Given the description of an element on the screen output the (x, y) to click on. 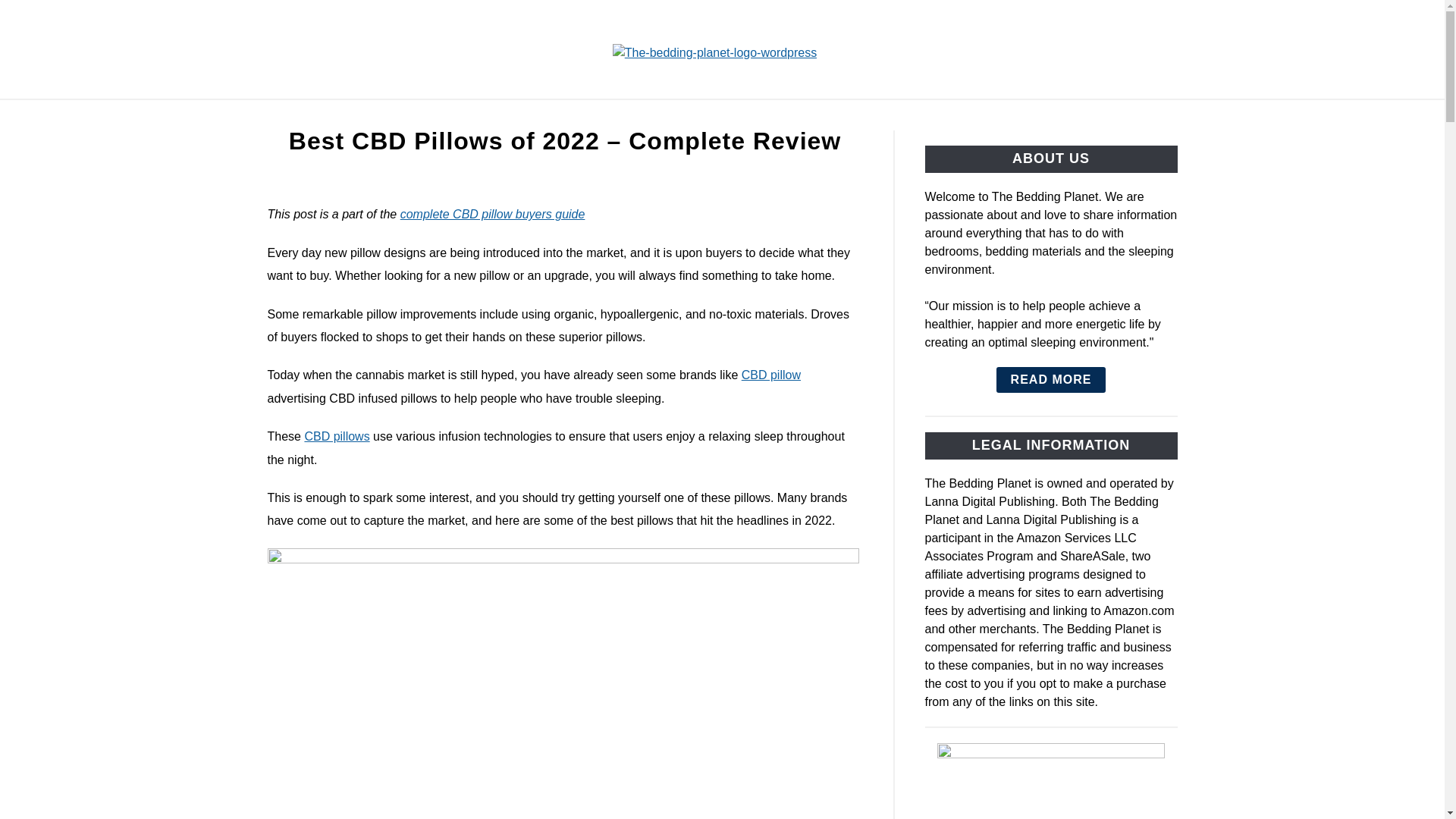
Search (1203, 49)
BUYER GUIDES (704, 117)
GUIDES (590, 117)
CATEGORIES (485, 117)
